Given the description of an element on the screen output the (x, y) to click on. 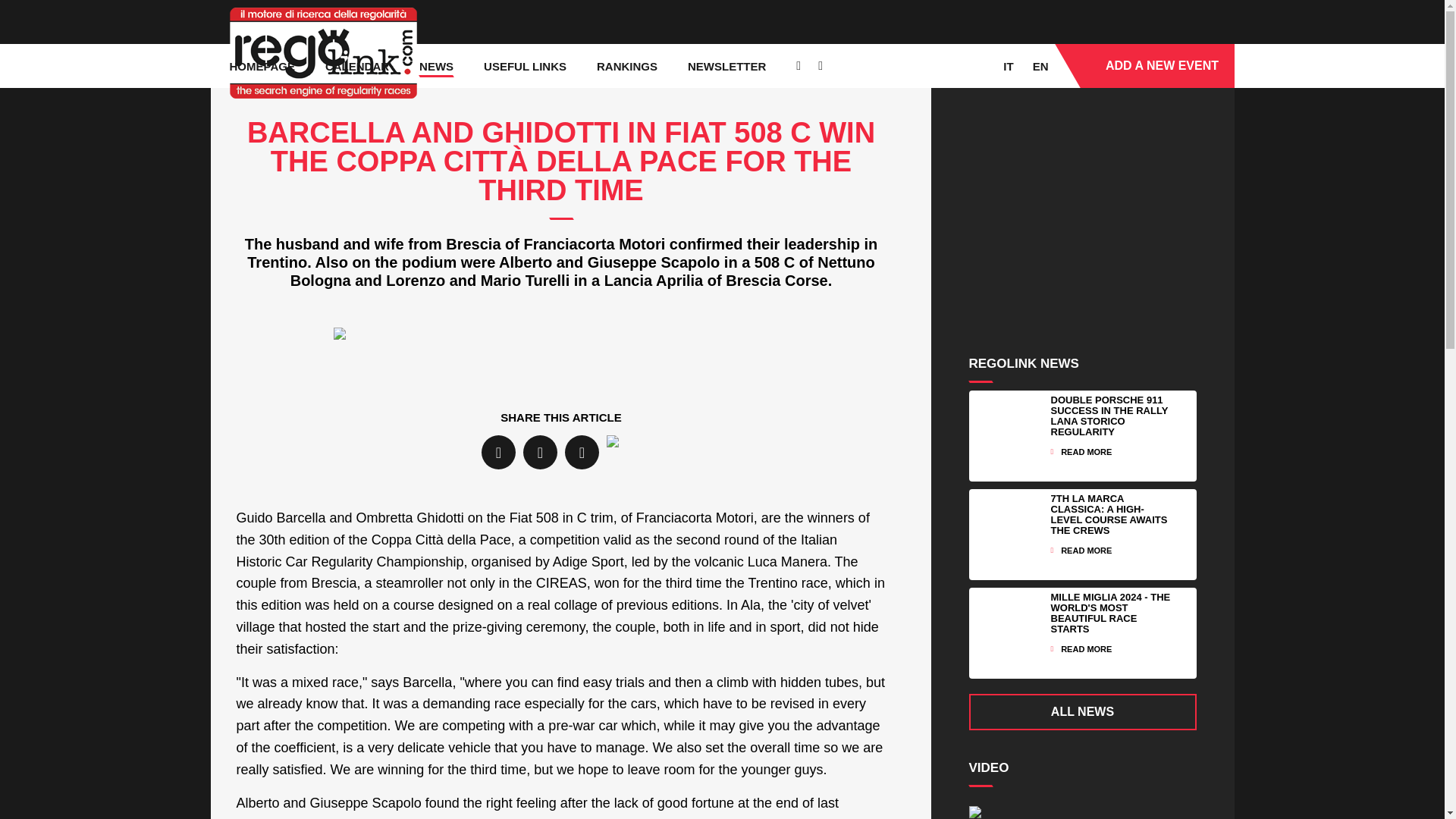
ALL NEWS (1083, 712)
EN (1040, 65)
USEFUL LINKS (524, 65)
NEWSLETTER (726, 65)
NEWS (435, 65)
RANKINGS (627, 65)
ADD A NEW EVENT (1142, 65)
